Given the description of an element on the screen output the (x, y) to click on. 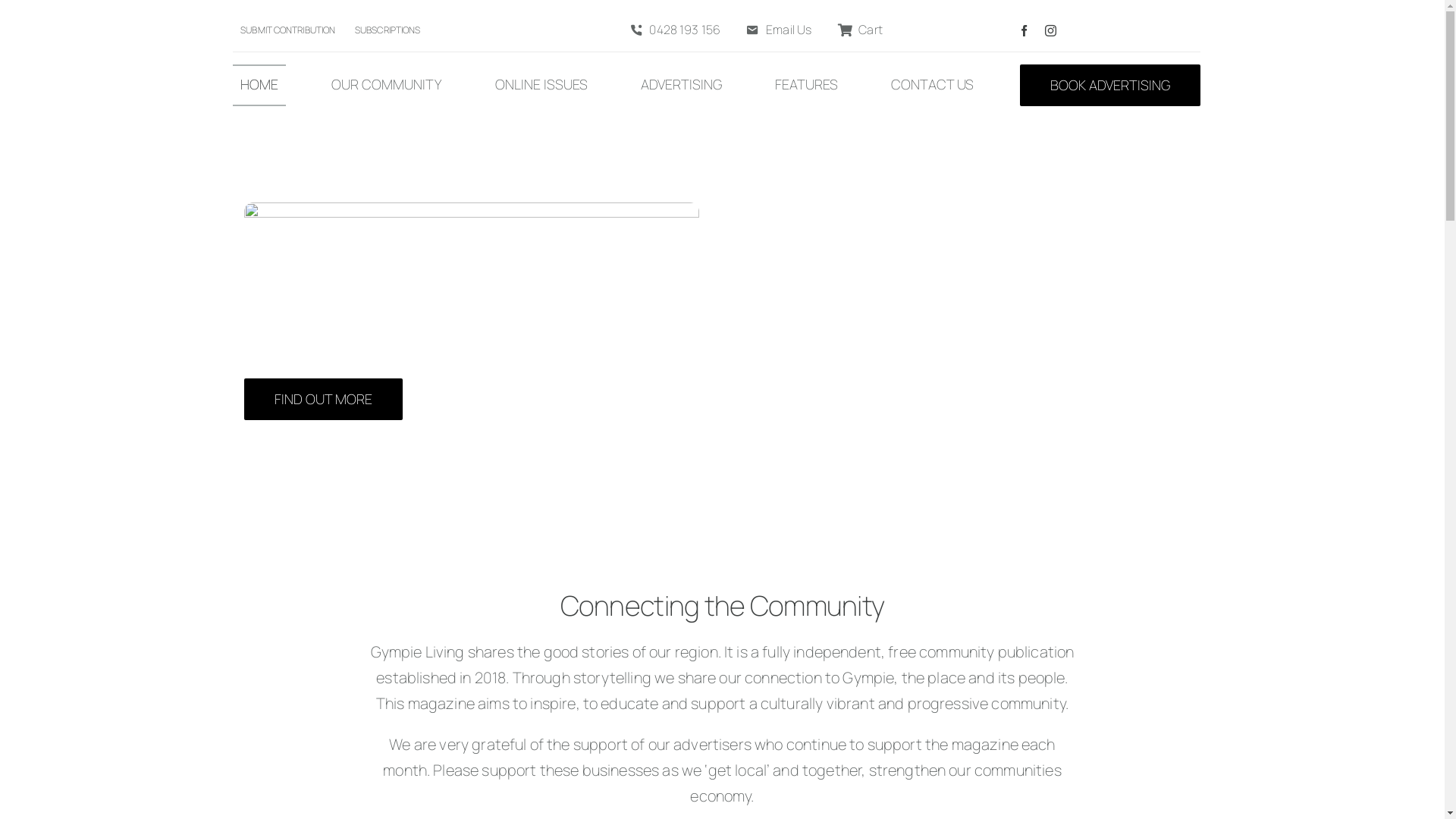
FEATURES Element type: text (806, 85)
ADVERTISING Element type: text (681, 85)
SUBSCRIPTIONS Element type: text (387, 30)
HOME Element type: text (258, 85)
FIND OUT MORE Element type: text (323, 399)
0428 193 156 Element type: text (671, 30)
ONLINE ISSUES Element type: text (541, 85)
BOOK ADVERTISING Element type: text (1109, 85)
gympie-living-logo-white-600 Element type: hover (471, 237)
Cart Element type: text (856, 30)
CONTACT US Element type: text (932, 85)
Email Us Element type: text (775, 30)
OUR COMMUNITY Element type: text (385, 85)
SUBMIT CONTRIBUTION Element type: text (287, 30)
